Given the description of an element on the screen output the (x, y) to click on. 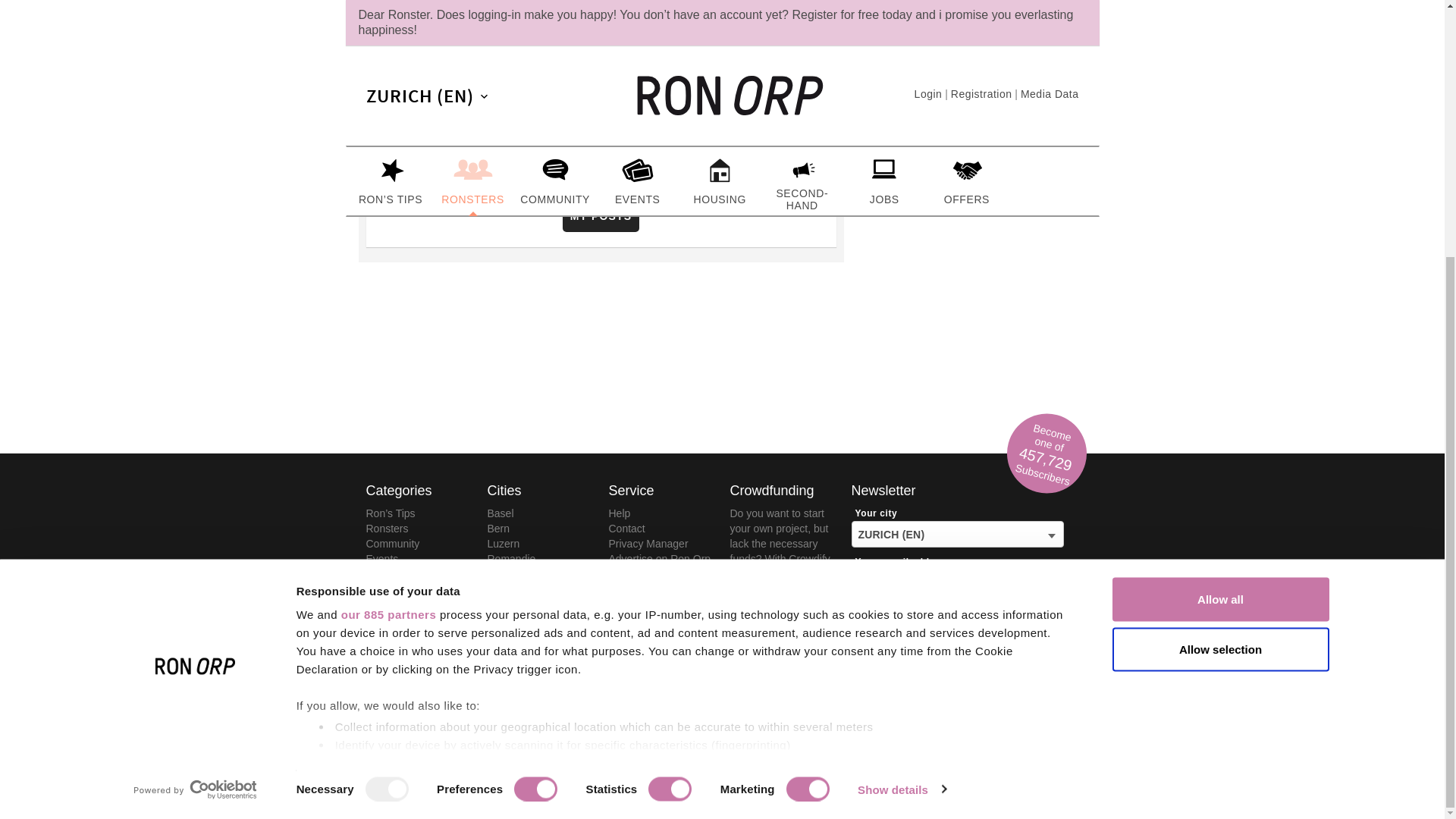
details section (825, 399)
our 885 partners (388, 248)
Sign up (957, 742)
Show details (900, 423)
